Given the description of an element on the screen output the (x, y) to click on. 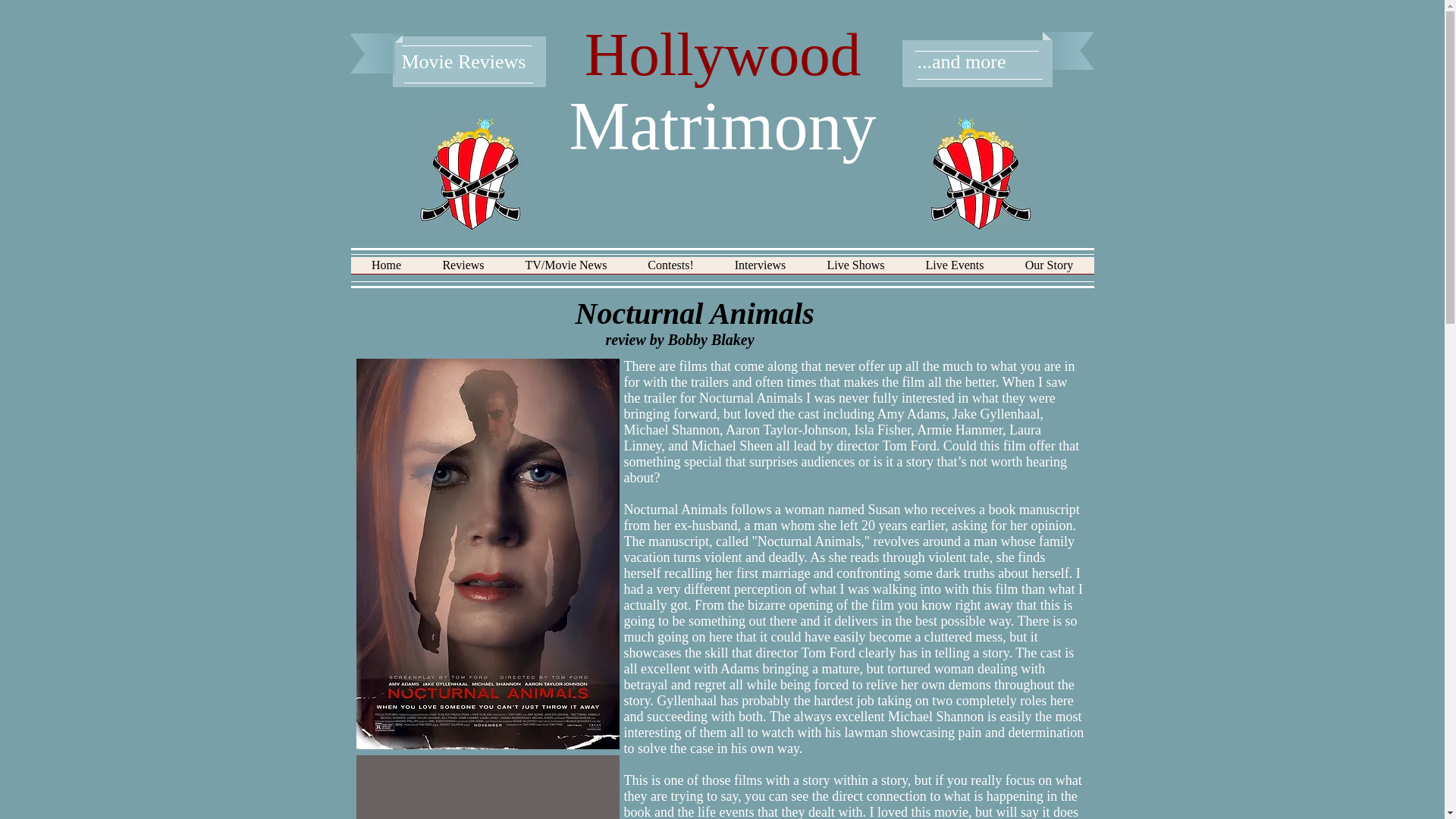
Our Story (1048, 270)
Interviews (760, 270)
Home (386, 270)
Hollywood (723, 54)
Live Events (954, 270)
Matrimony (722, 125)
External YouTube (486, 788)
Live Shows (855, 270)
Contests! (670, 270)
